Given the description of an element on the screen output the (x, y) to click on. 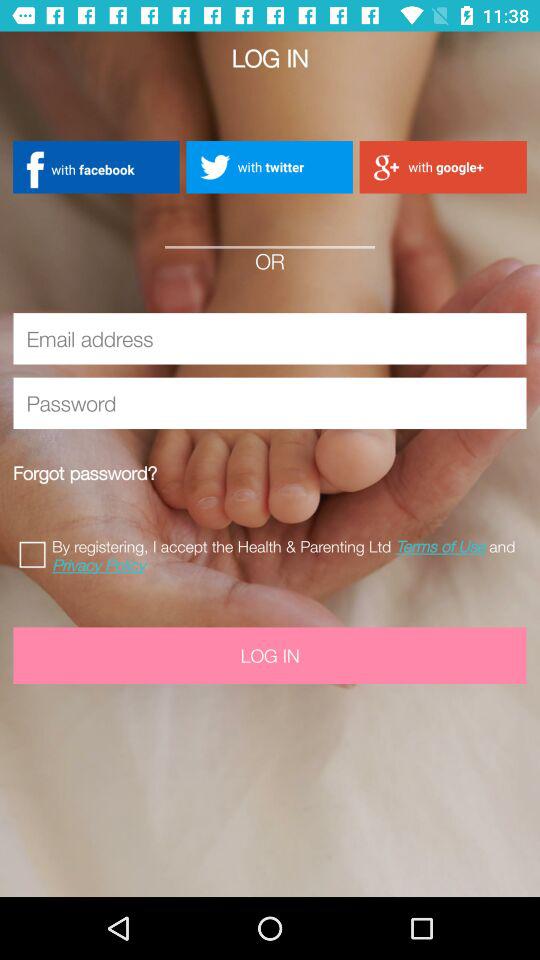
accept terms of use (36, 552)
